Given the description of an element on the screen output the (x, y) to click on. 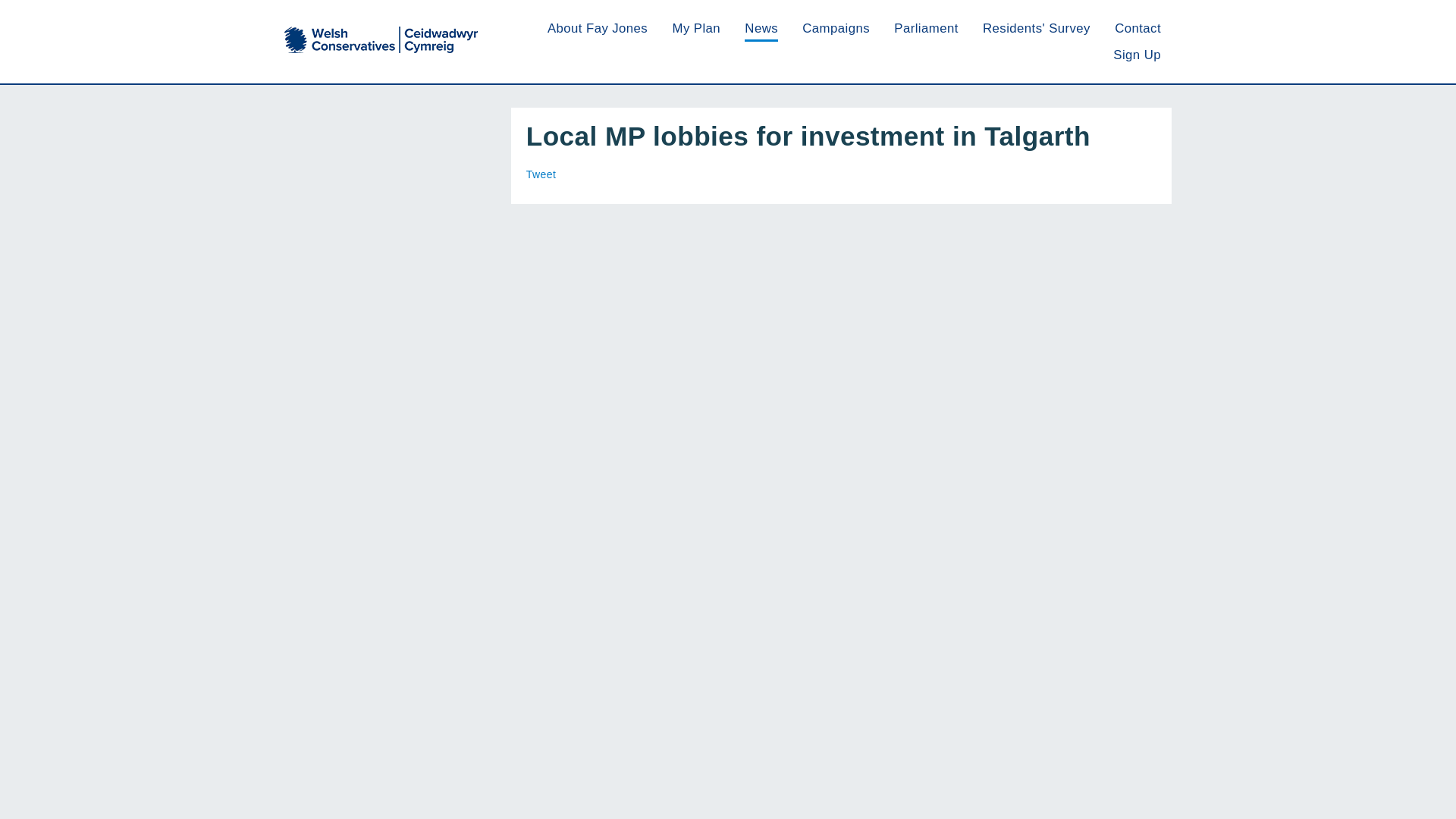
Campaigns (835, 28)
My Plan (695, 28)
About Fay Jones (597, 28)
Parliament (925, 28)
News (760, 28)
Tweet (540, 174)
My Plan Survey (695, 28)
Residents' Survey (1036, 28)
Sign Up (1136, 54)
Contact (1137, 28)
